Given the description of an element on the screen output the (x, y) to click on. 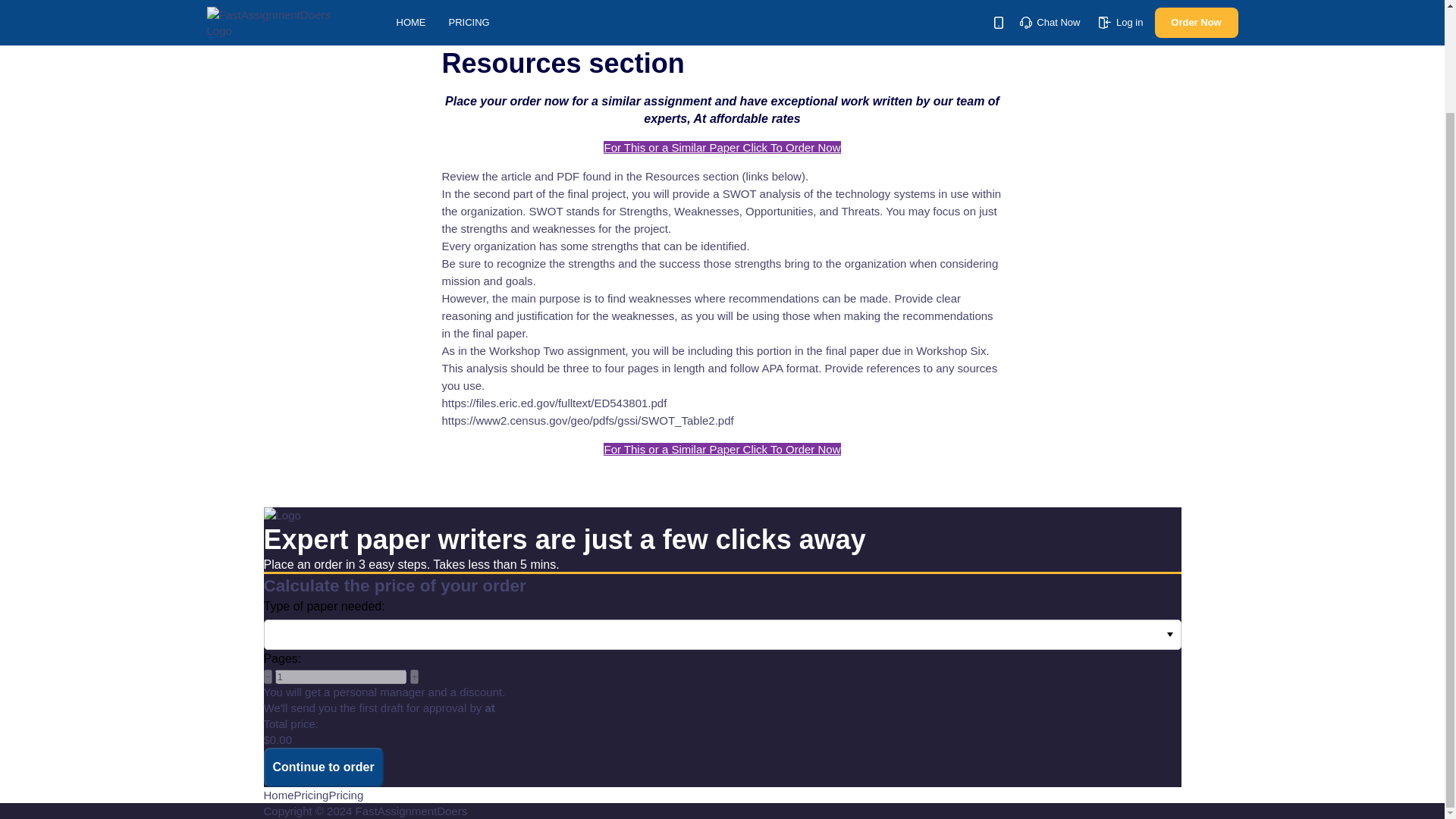
For This or a Similar Paper Click To Order Now (722, 146)
Home (278, 794)
Pricing (311, 794)
Continue to order (323, 767)
Pricing (345, 794)
1 (340, 676)
For This or a Similar Paper Click To Order Now (722, 449)
Continue to Order (323, 767)
